Given the description of an element on the screen output the (x, y) to click on. 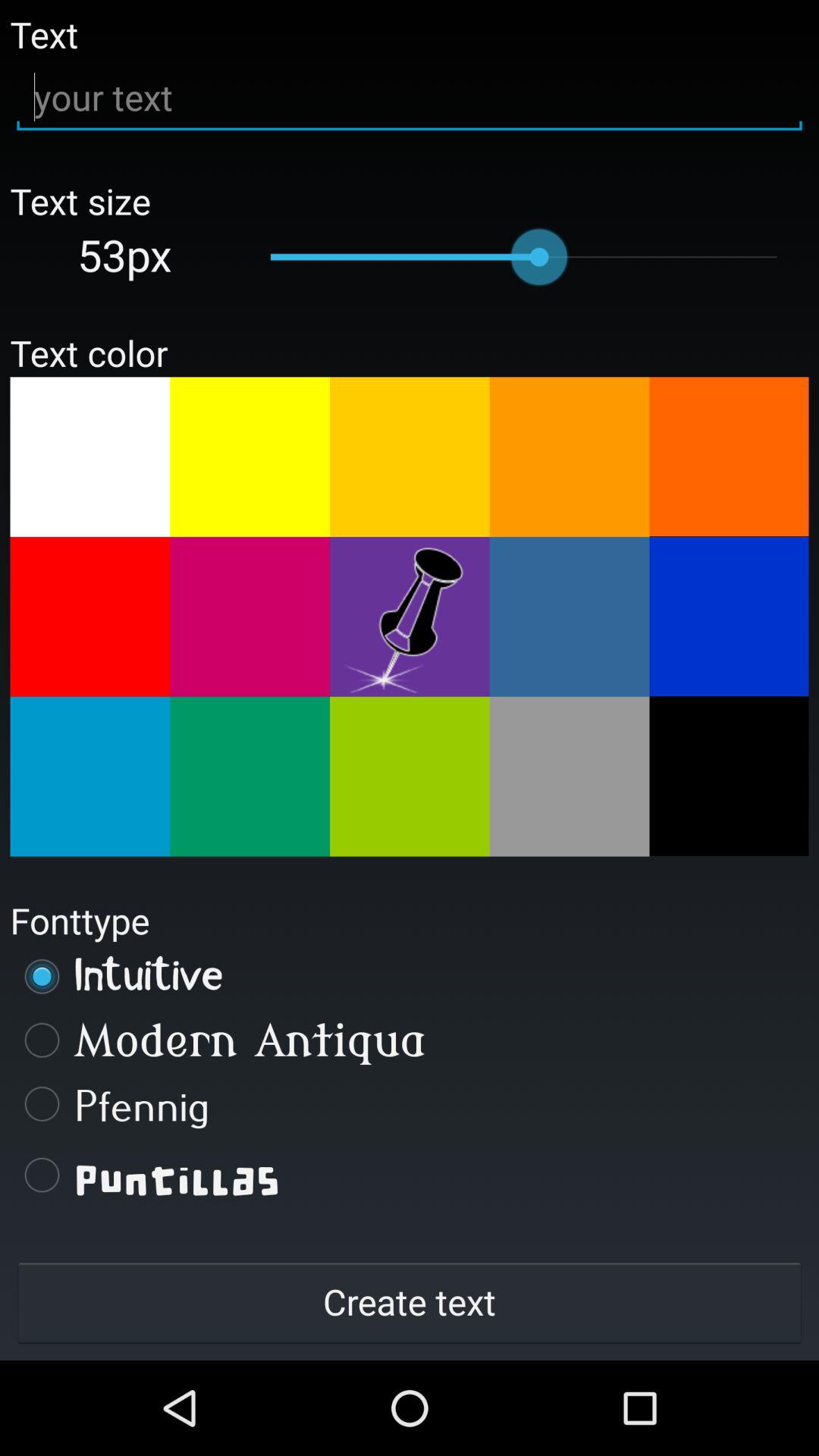
press pfennig radio button (409, 1103)
